Given the description of an element on the screen output the (x, y) to click on. 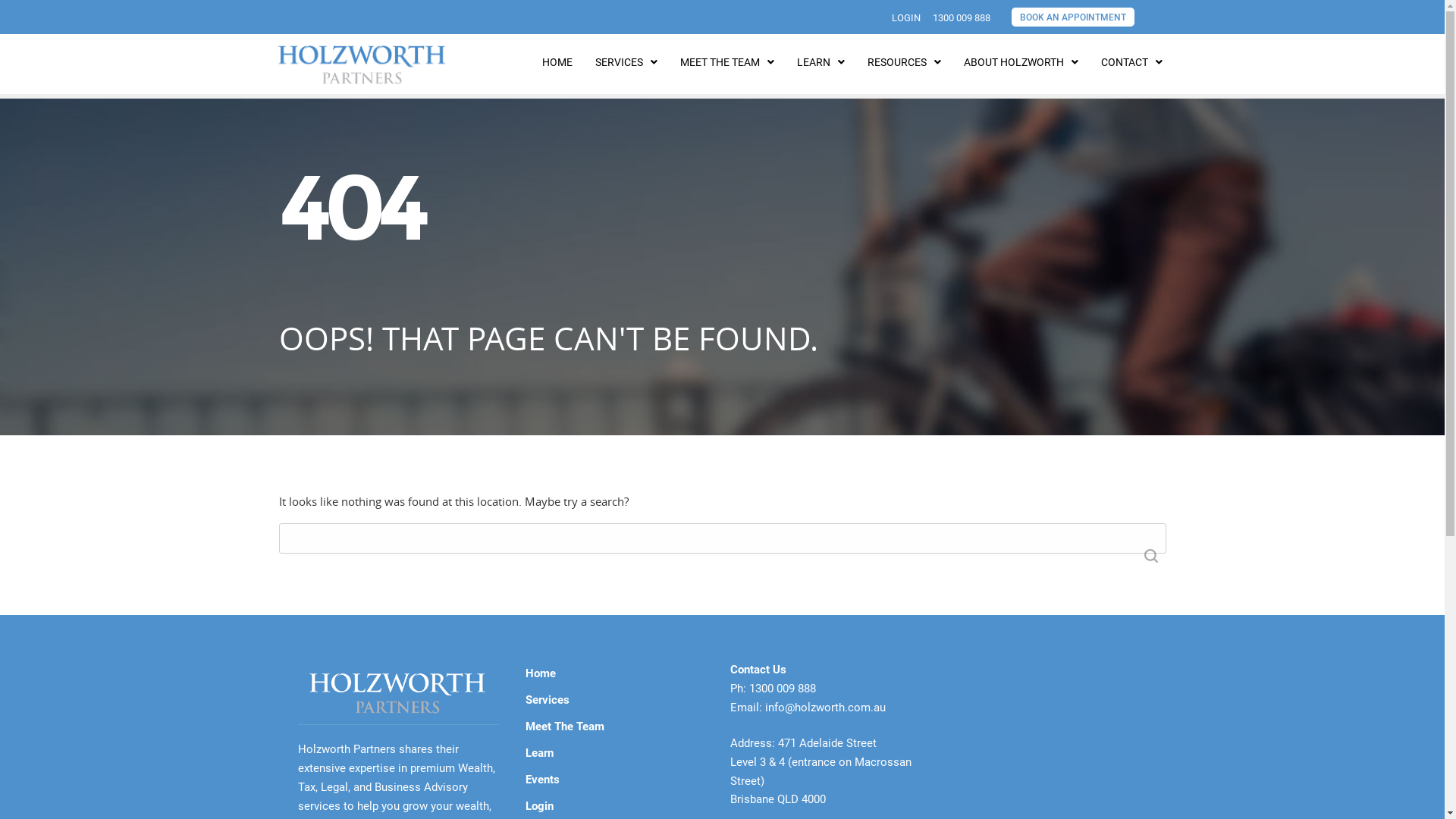
Events Element type: text (614, 779)
Learn Element type: text (614, 753)
1300 009 888 Element type: text (961, 17)
MEET THE TEAM Element type: text (726, 61)
SERVICES Element type: text (625, 61)
Home Element type: text (614, 673)
HOME Element type: text (556, 61)
Services Element type: text (614, 700)
HOME Element type: text (294, 76)
CONTACT Element type: text (1131, 61)
RESOURCES Element type: text (904, 61)
LEARN Element type: text (820, 61)
BOOK AN APPOINTMENT Element type: text (1072, 16)
Meet The Team Element type: text (614, 726)
Search Element type: text (1150, 555)
ABOUT HOLZWORTH Element type: text (1020, 61)
LOGIN Element type: text (905, 17)
